Given the description of an element on the screen output the (x, y) to click on. 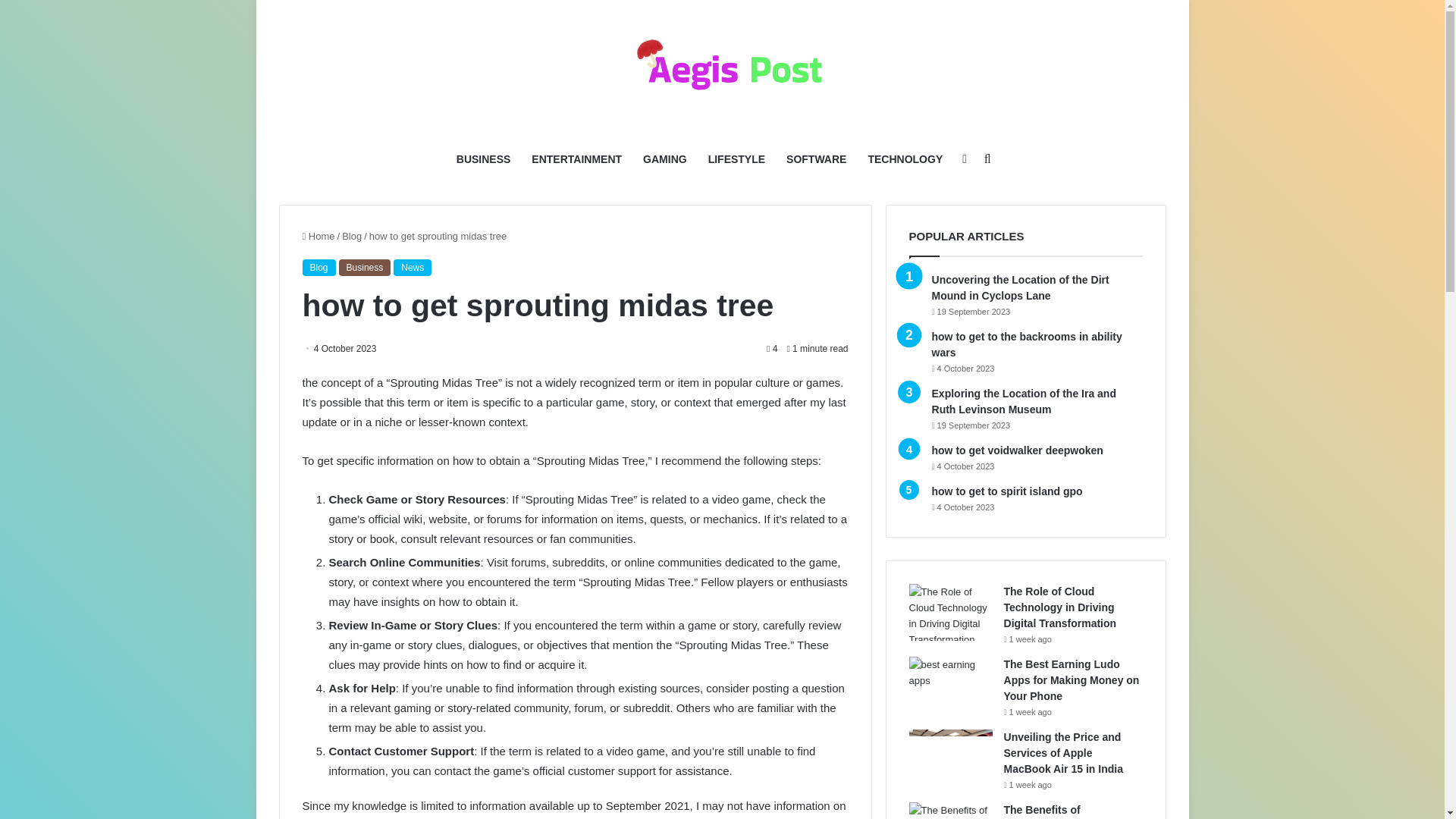
GAMING (664, 158)
Aegis Post (721, 68)
Blog (317, 267)
TECHNOLOGY (905, 158)
LIFESTYLE (736, 158)
SOFTWARE (816, 158)
ENTERTAINMENT (576, 158)
BUSINESS (483, 158)
Blog (351, 235)
Business (365, 267)
